Given the description of an element on the screen output the (x, y) to click on. 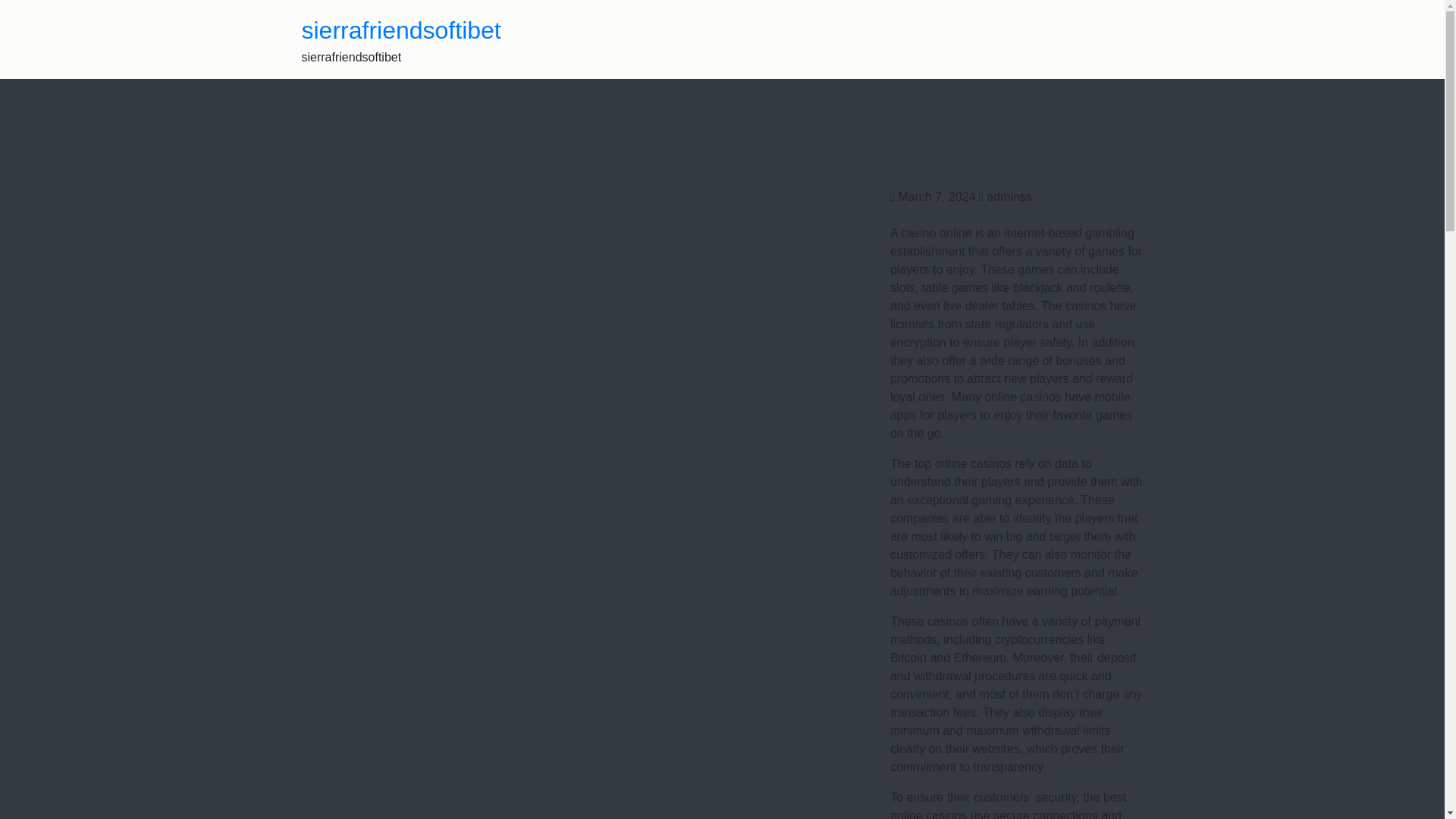
sierrafriendsoftibet (400, 30)
sierrafriendsoftibet (400, 30)
